Given the description of an element on the screen output the (x, y) to click on. 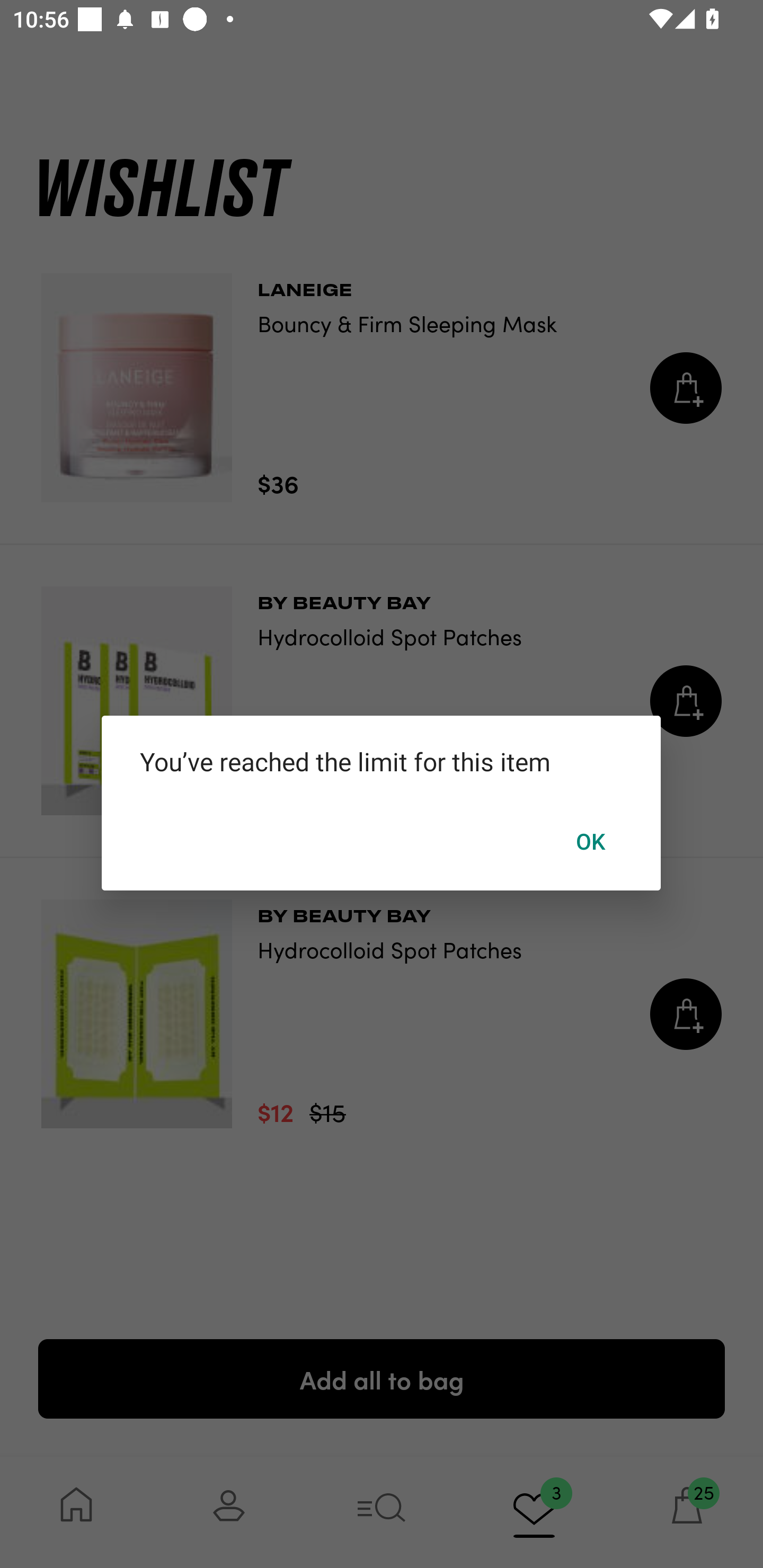
OK (590, 841)
